Given the description of an element on the screen output the (x, y) to click on. 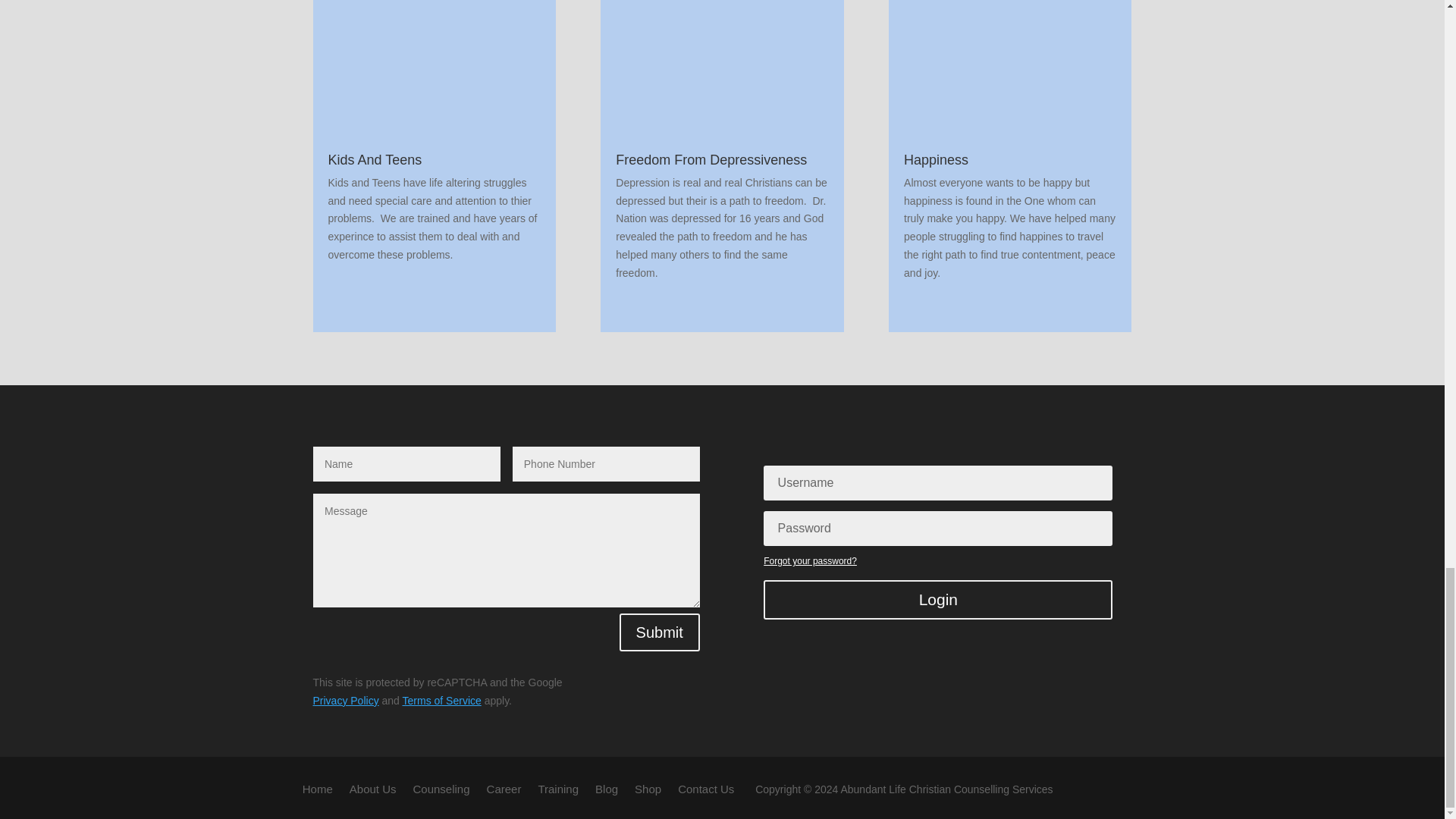
Login (937, 599)
Terms of Service (442, 700)
Only numbers allowed. (606, 463)
Privacy Policy (345, 700)
Forgot your password? (809, 561)
Submit (660, 632)
